Given the description of an element on the screen output the (x, y) to click on. 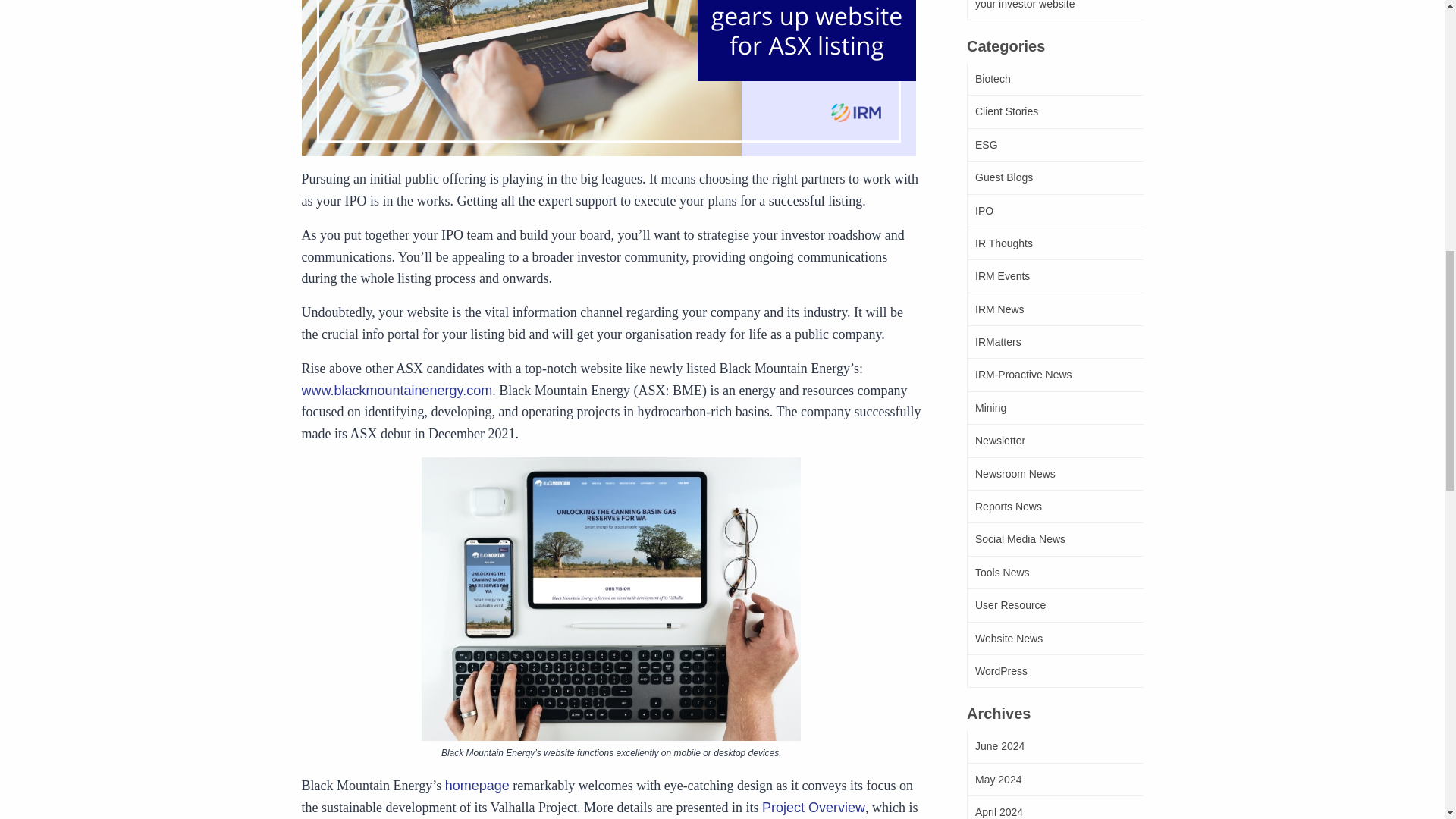
IRM Events (1054, 276)
Biotech (1054, 79)
How to use analytics to enhance your investor website (1054, 10)
ESG (1054, 144)
Client Stories (1054, 111)
IRM News (1054, 309)
IR Thoughts (1054, 243)
Newsletter (1054, 441)
IRM-Proactive News (1054, 374)
IRMatters (1054, 341)
IPO (1054, 210)
Mining (1054, 408)
Guest Blogs (1054, 177)
